Given the description of an element on the screen output the (x, y) to click on. 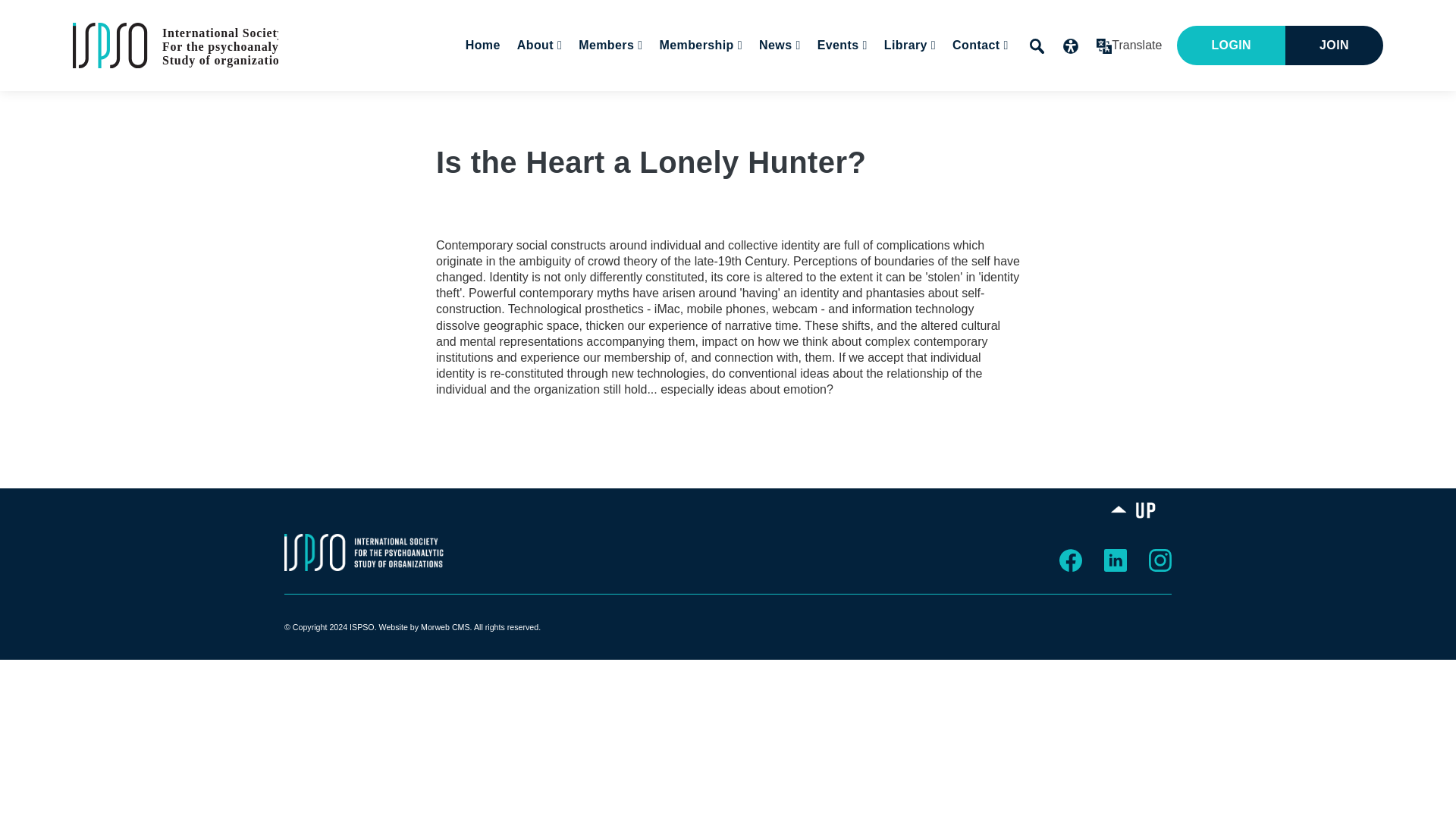
Annual Meeting Scholarship Fund (767, 90)
Board Of Directors (634, 90)
Membership (698, 45)
Members News (868, 90)
Is the Heart a Lonely Hunter? (175, 43)
Membership Application (776, 90)
ISPSO 40th Anniversary Celebrations (933, 97)
Podcast Series (983, 90)
Support Us (1051, 90)
Podcast Series (869, 90)
Members Space (690, 90)
Library (907, 45)
Contact (978, 45)
Statement on the War in Ukraine (657, 90)
